Given the description of an element on the screen output the (x, y) to click on. 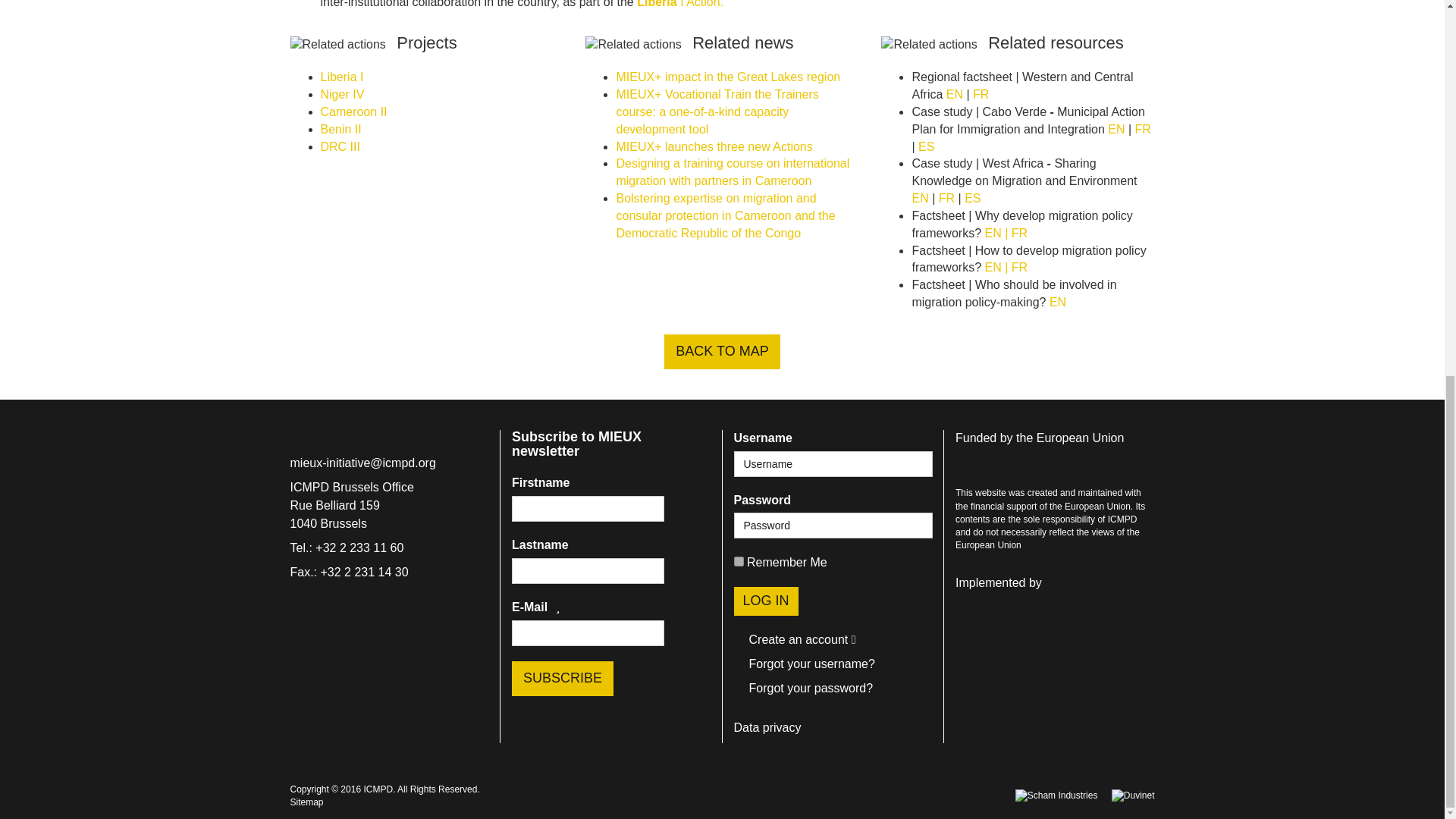
Subscribe (562, 678)
Log in (765, 601)
yes (738, 561)
